Given the description of an element on the screen output the (x, y) to click on. 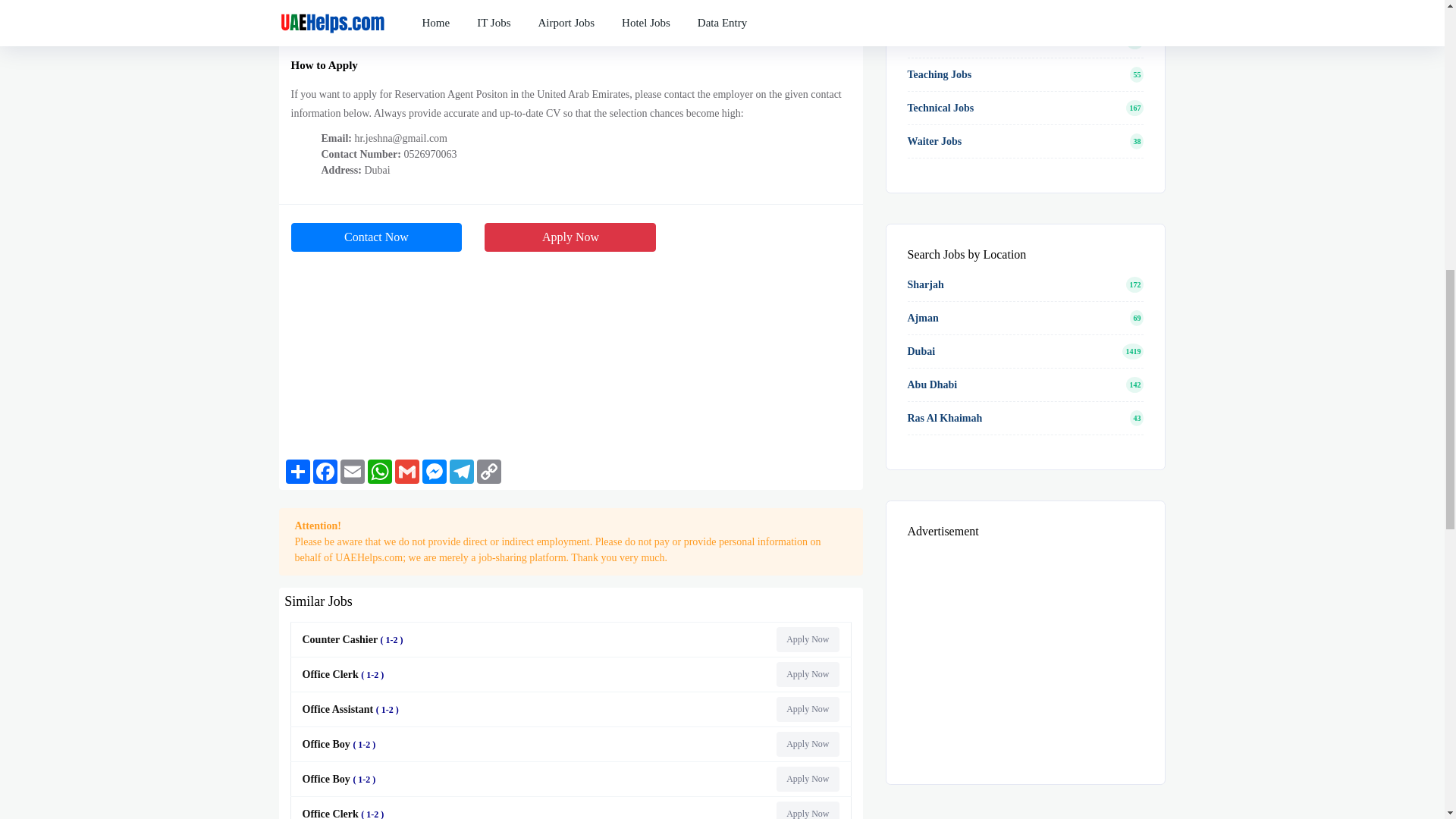
Office Clerk (345, 813)
Apply Now (807, 674)
Copy Link (489, 471)
Office Clerk (345, 674)
Apply Now (807, 778)
Messenger (434, 471)
Office Boy (341, 744)
WhatsApp (379, 471)
Contact Now (377, 236)
Apply Now (807, 639)
Gmail (406, 471)
Apply Now (807, 708)
Office Assistant (352, 708)
Apply Now (807, 744)
Apply Now (570, 236)
